Given the description of an element on the screen output the (x, y) to click on. 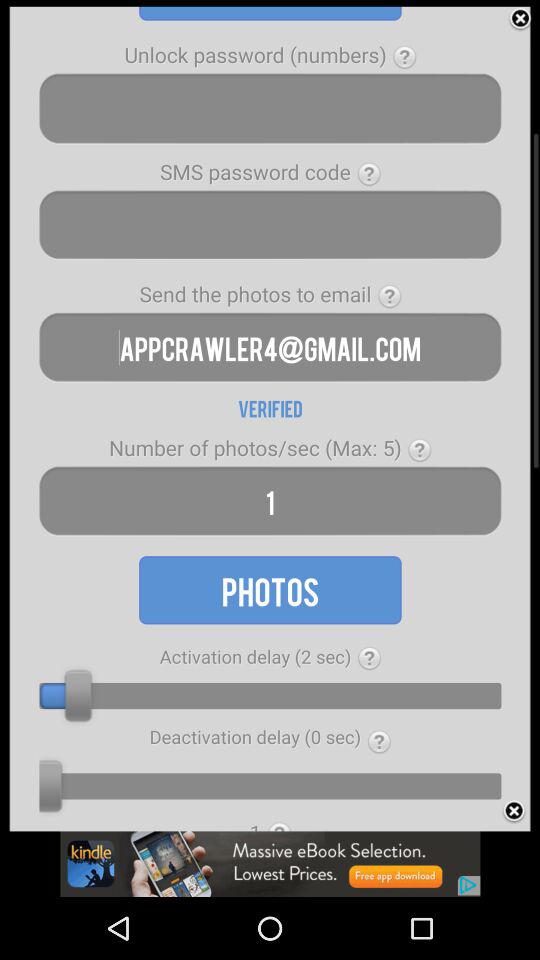
for help (369, 658)
